Given the description of an element on the screen output the (x, y) to click on. 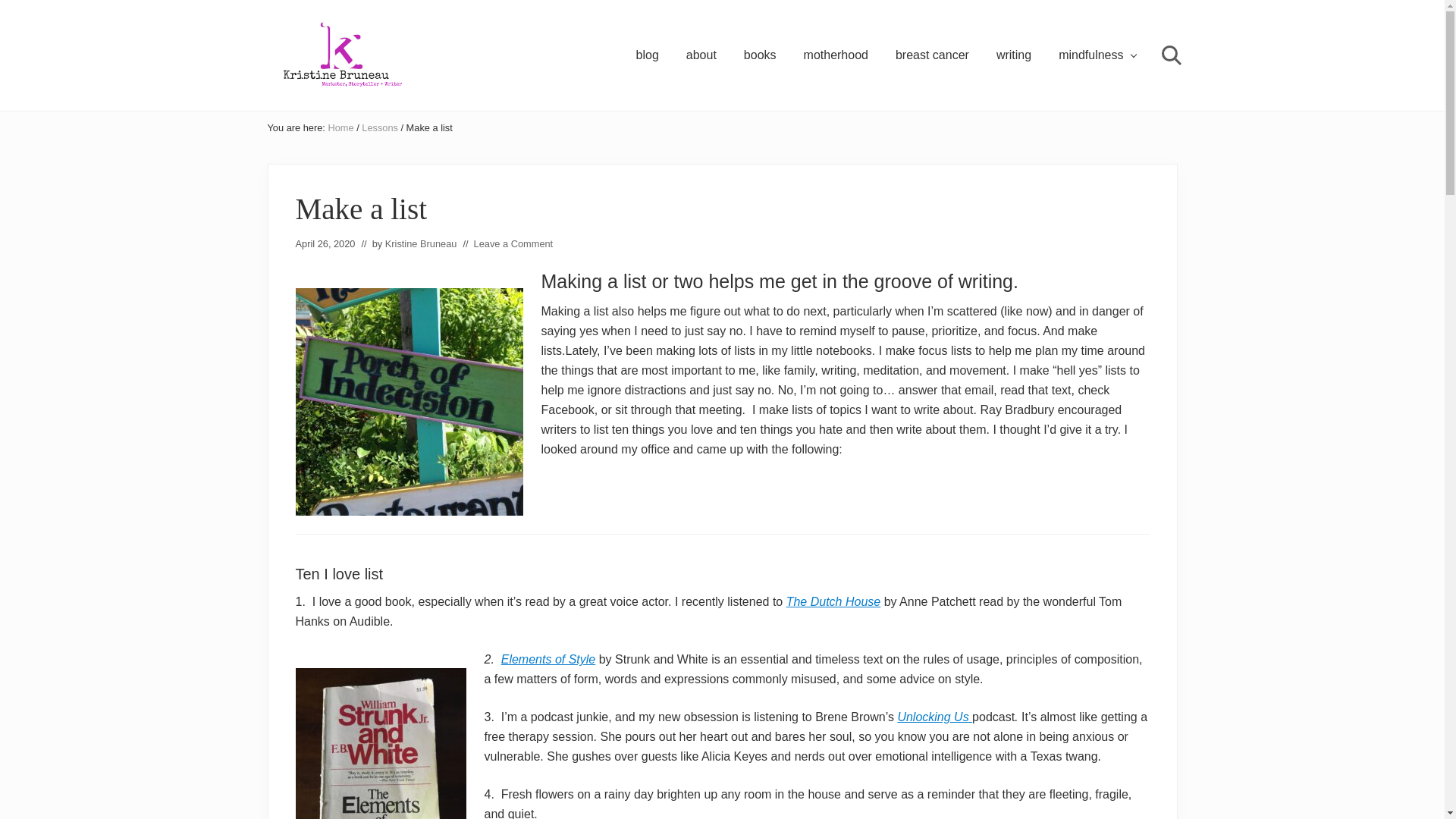
writing (1013, 55)
Unlocking Us (934, 716)
motherhood (836, 55)
Lessons (379, 127)
Leave a Comment (513, 243)
Home (340, 127)
about (701, 55)
books (760, 55)
Kristine Bruneau (421, 243)
breast cancer (932, 55)
mindfulness (1096, 55)
blog (647, 55)
Search (1169, 55)
Elements of Style (547, 658)
